Given the description of an element on the screen output the (x, y) to click on. 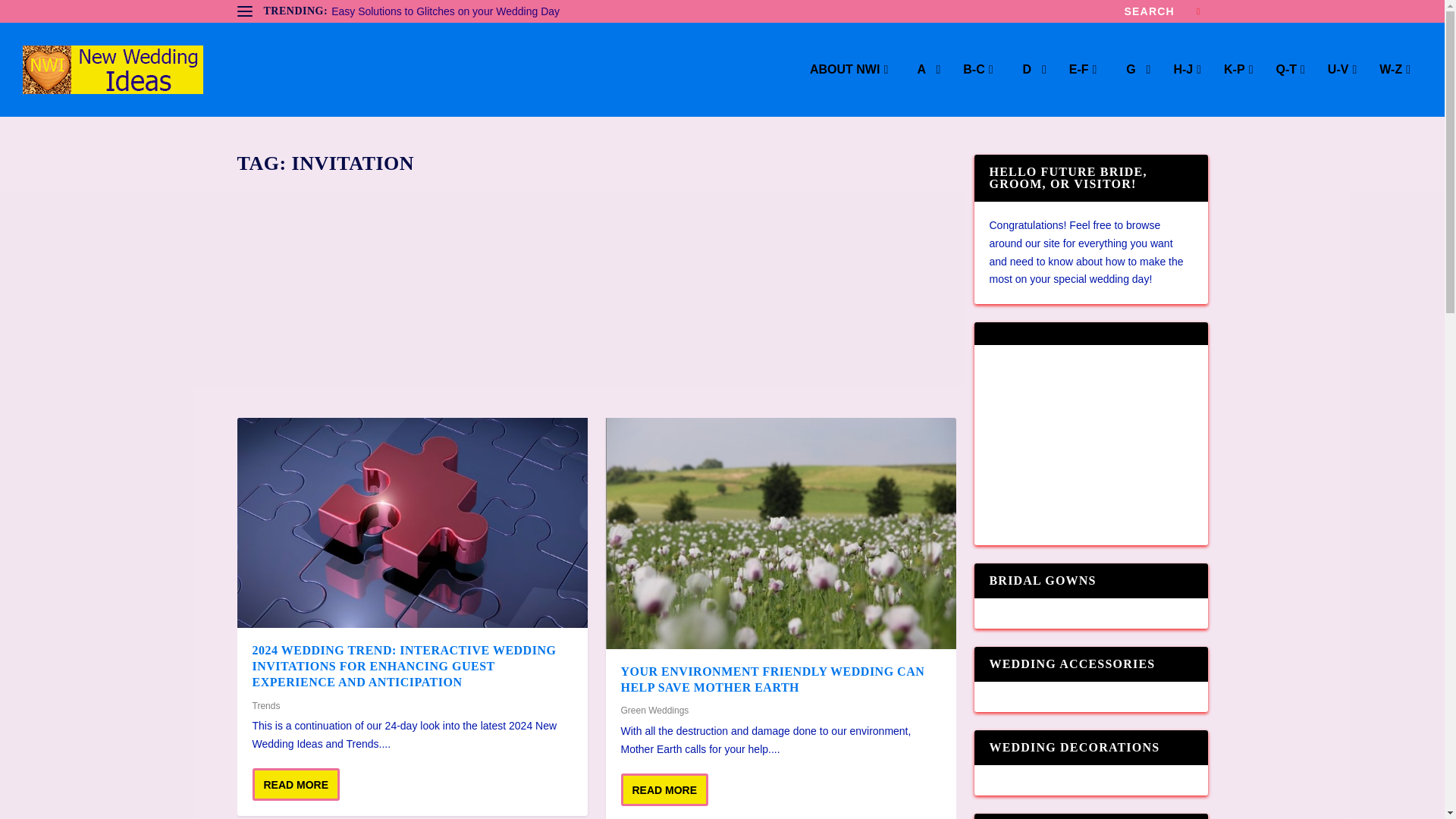
Easy Solutions to Glitches on your Wedding Day (445, 10)
Search for: (1161, 11)
Your Environment Friendly Wedding Can Help Save Mother Earth (780, 533)
ABOUT NWI (848, 90)
Advertisement (1090, 444)
